Given the description of an element on the screen output the (x, y) to click on. 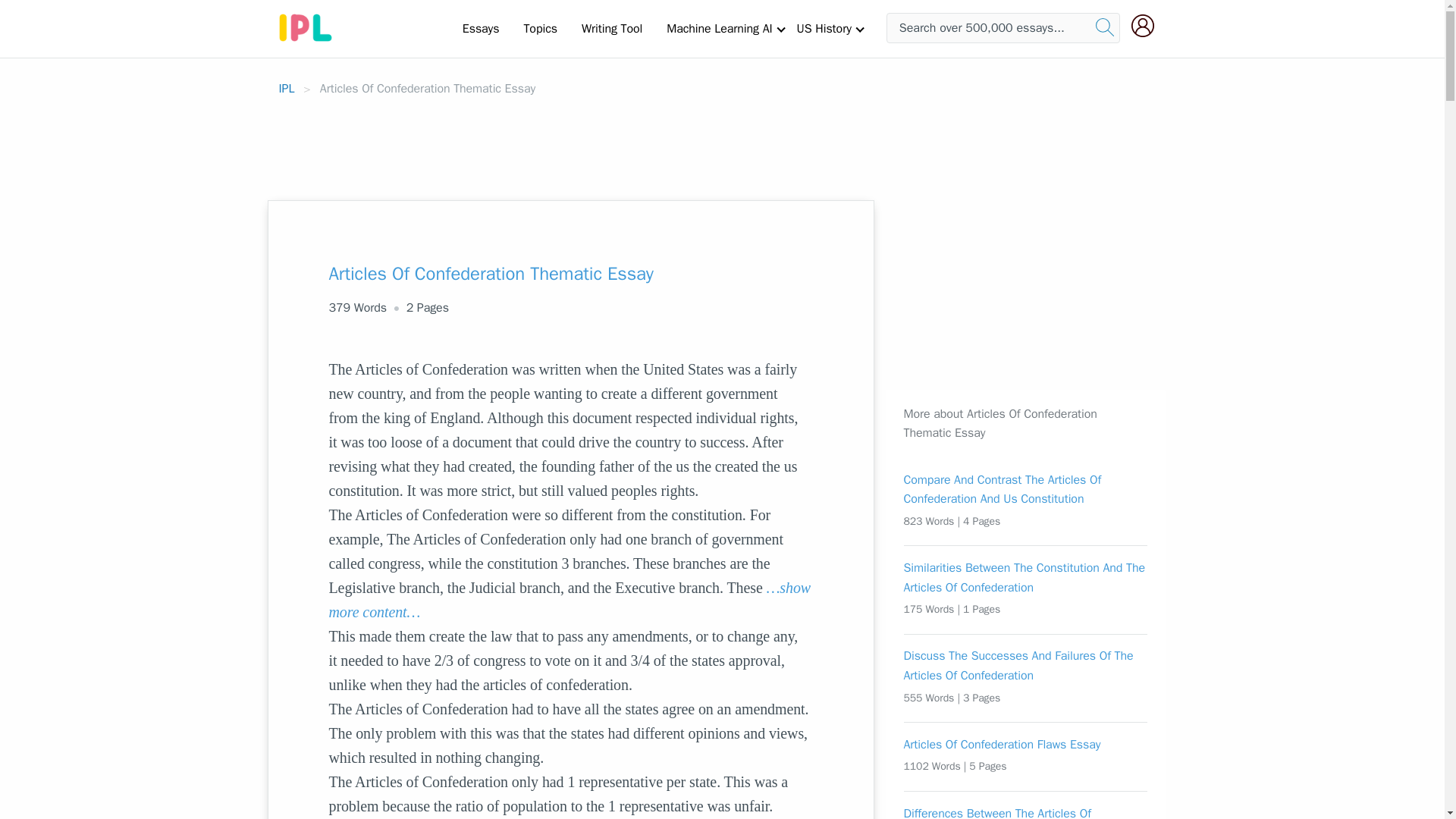
Machine Learning AI (718, 28)
IPL (287, 88)
Essays (480, 28)
Topics (540, 28)
US History (823, 28)
Writing Tool (611, 28)
